Given the description of an element on the screen output the (x, y) to click on. 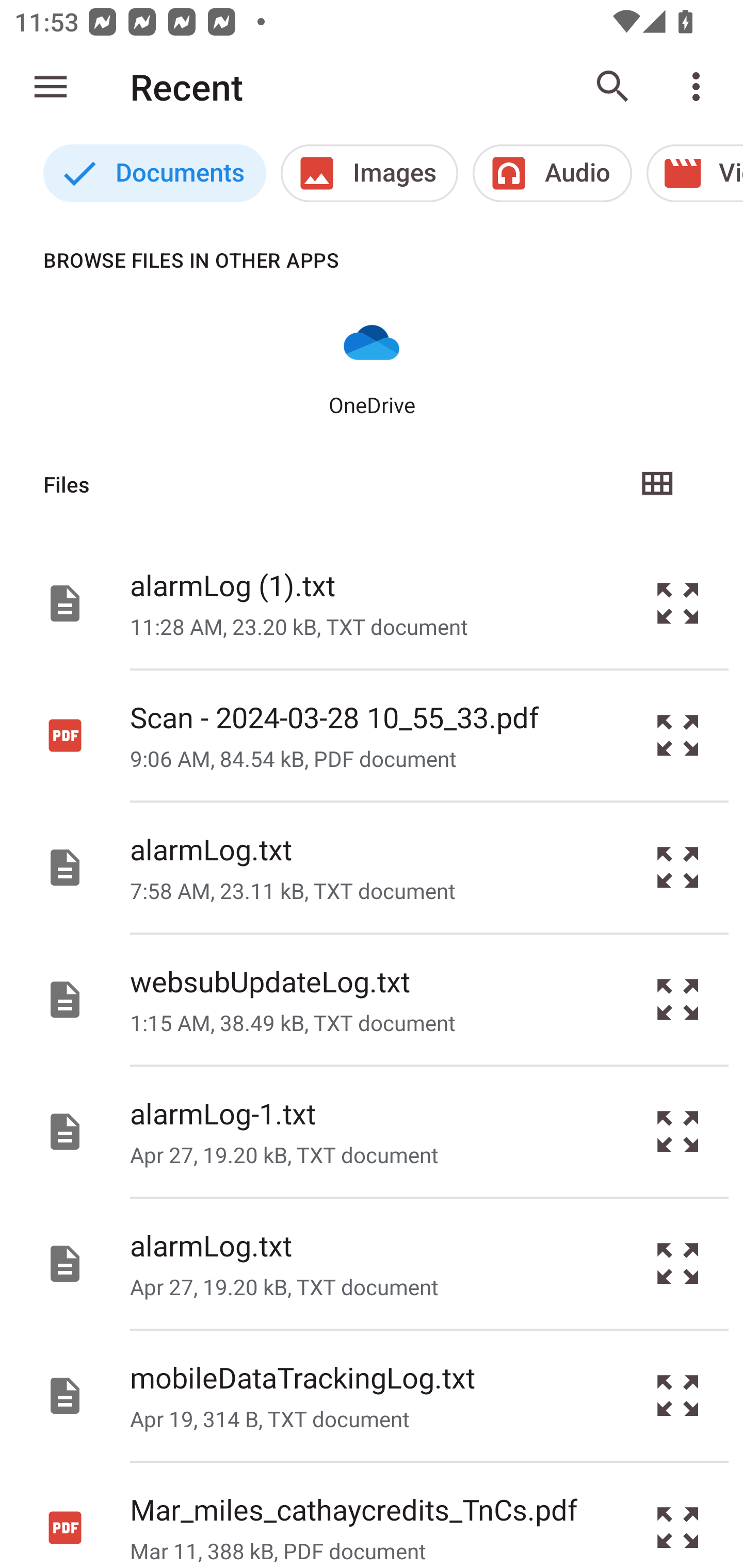
Show roots (50, 86)
Search (612, 86)
More options (699, 86)
Documents (154, 173)
Images (369, 173)
Audio (552, 173)
Videos (694, 173)
OneDrive (371, 365)
Grid view (655, 484)
Preview the file alarmLog (1).txt (677, 602)
Preview the file Scan - 2024-03-28 10_55_33.pdf (677, 736)
Preview the file alarmLog.txt (677, 867)
Preview the file websubUpdateLog.txt (677, 999)
Preview the file alarmLog-1.txt (677, 1131)
Preview the file alarmLog.txt (677, 1262)
Preview the file mobileDataTrackingLog.txt (677, 1396)
Preview the file Mar_miles_cathaycredits_TnCs.pdf (677, 1515)
